Given the description of an element on the screen output the (x, y) to click on. 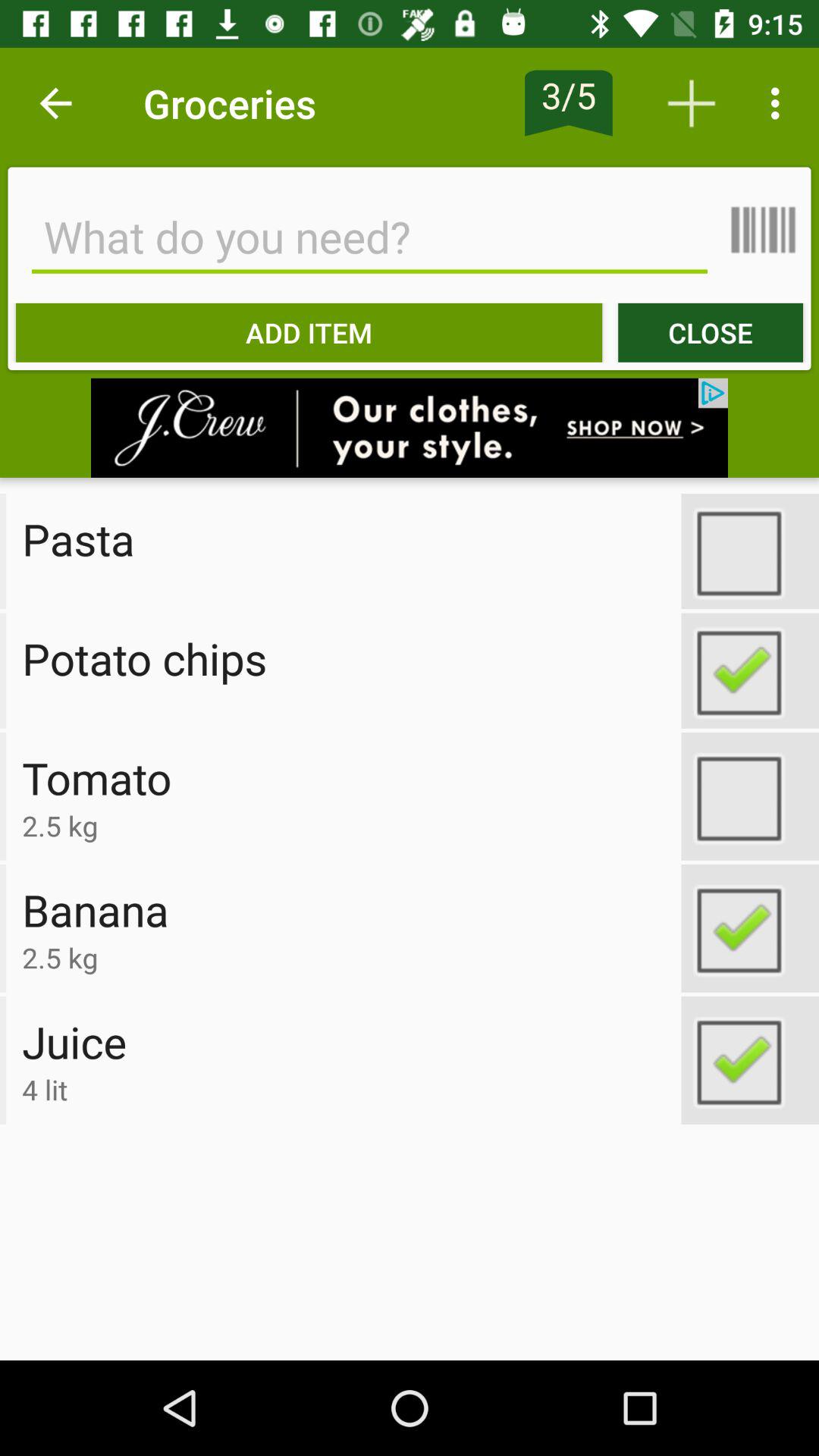
enter grocery item what do you need (369, 237)
